Given the description of an element on the screen output the (x, y) to click on. 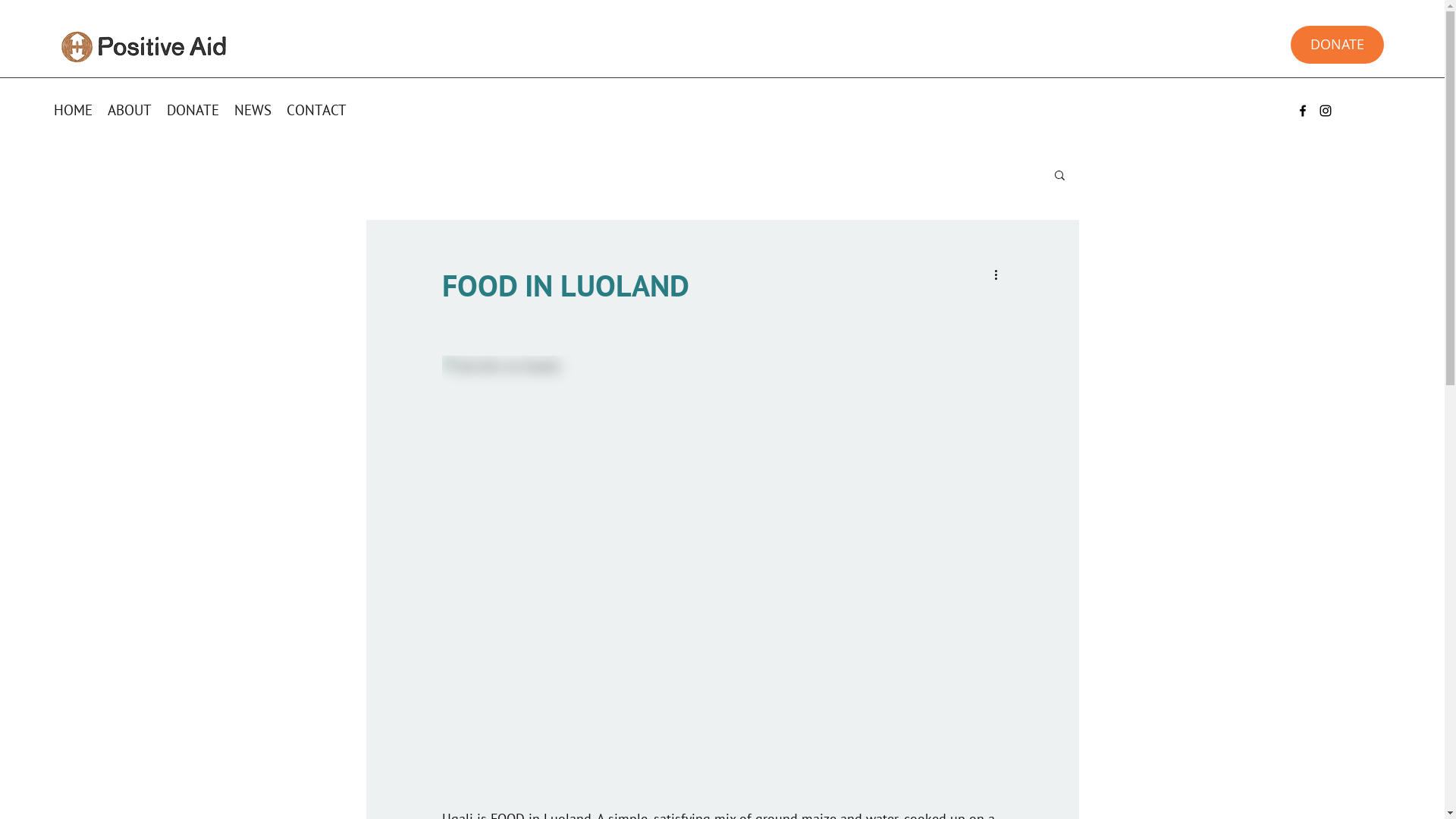
PA_Logo_Horizontal_website.png Element type: hover (144, 46)
DONATE Element type: text (192, 109)
CONTACT Element type: text (316, 109)
HOME Element type: text (73, 109)
NEWS Element type: text (252, 109)
DONATE Element type: text (1336, 44)
ABOUT Element type: text (129, 109)
